Given the description of an element on the screen output the (x, y) to click on. 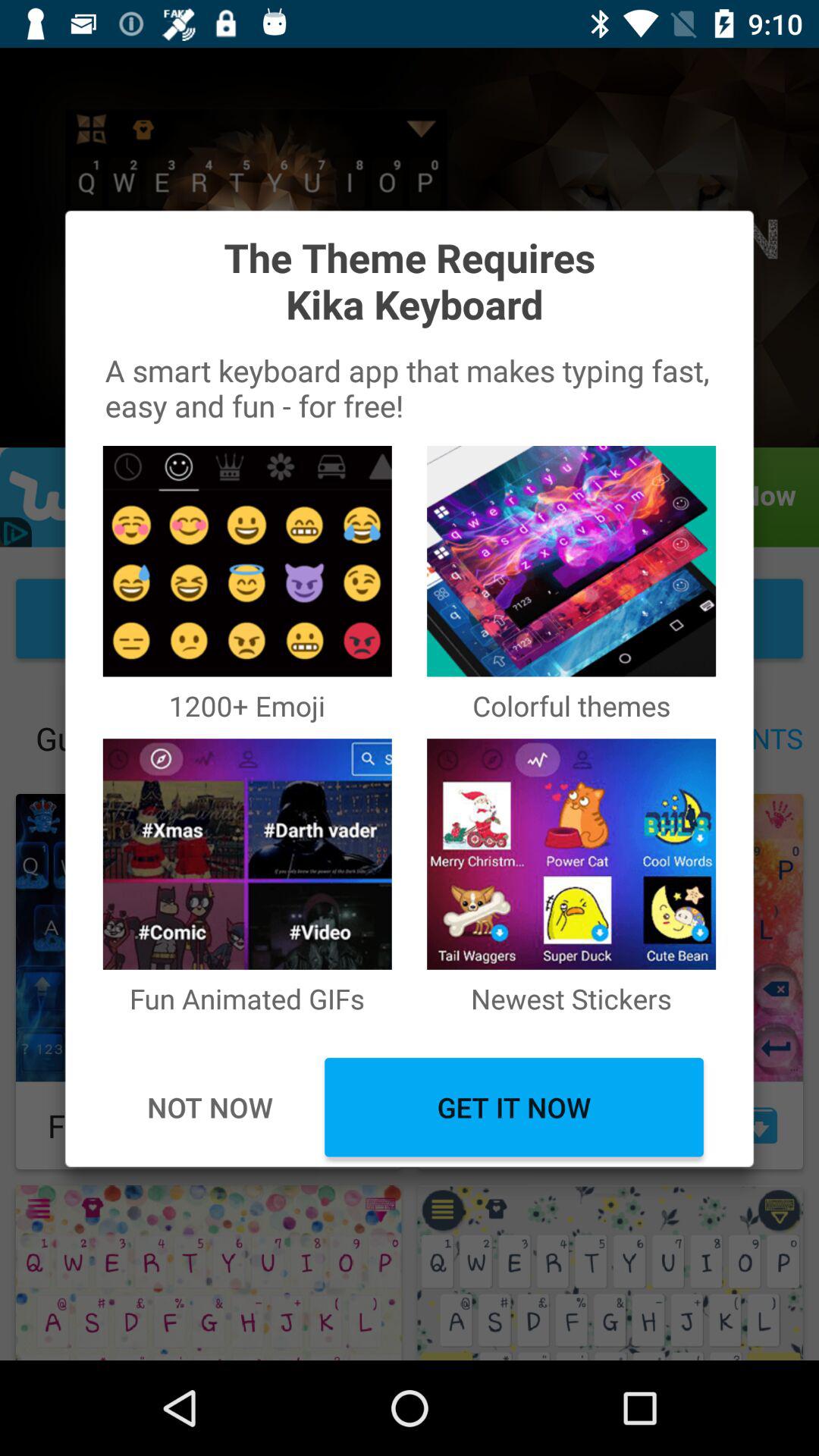
scroll to the get it now item (513, 1106)
